Given the description of an element on the screen output the (x, y) to click on. 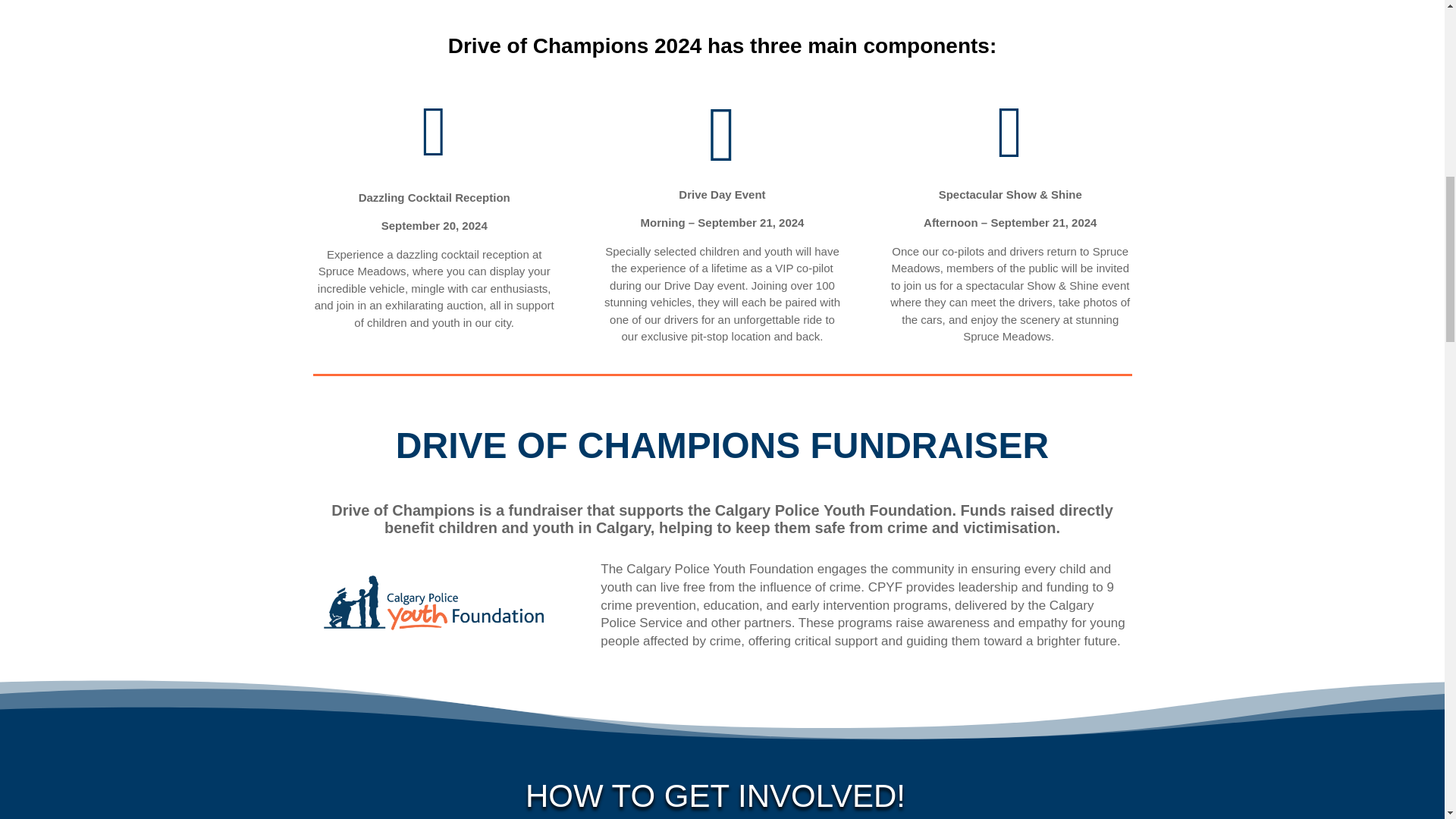
Untitled design - 2024-03-22T125245.957 (433, 602)
